Given the description of an element on the screen output the (x, y) to click on. 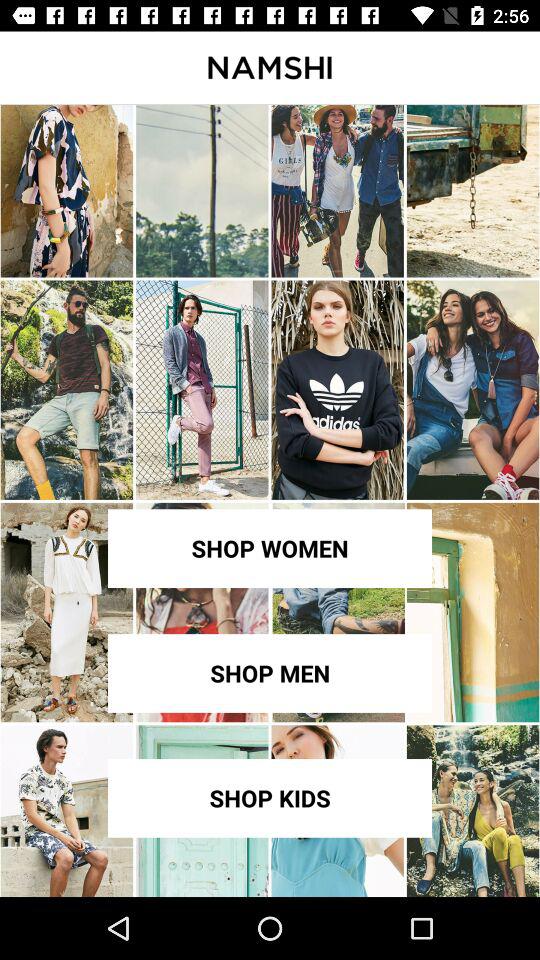
turn off item below shop women (270, 673)
